Given the description of an element on the screen output the (x, y) to click on. 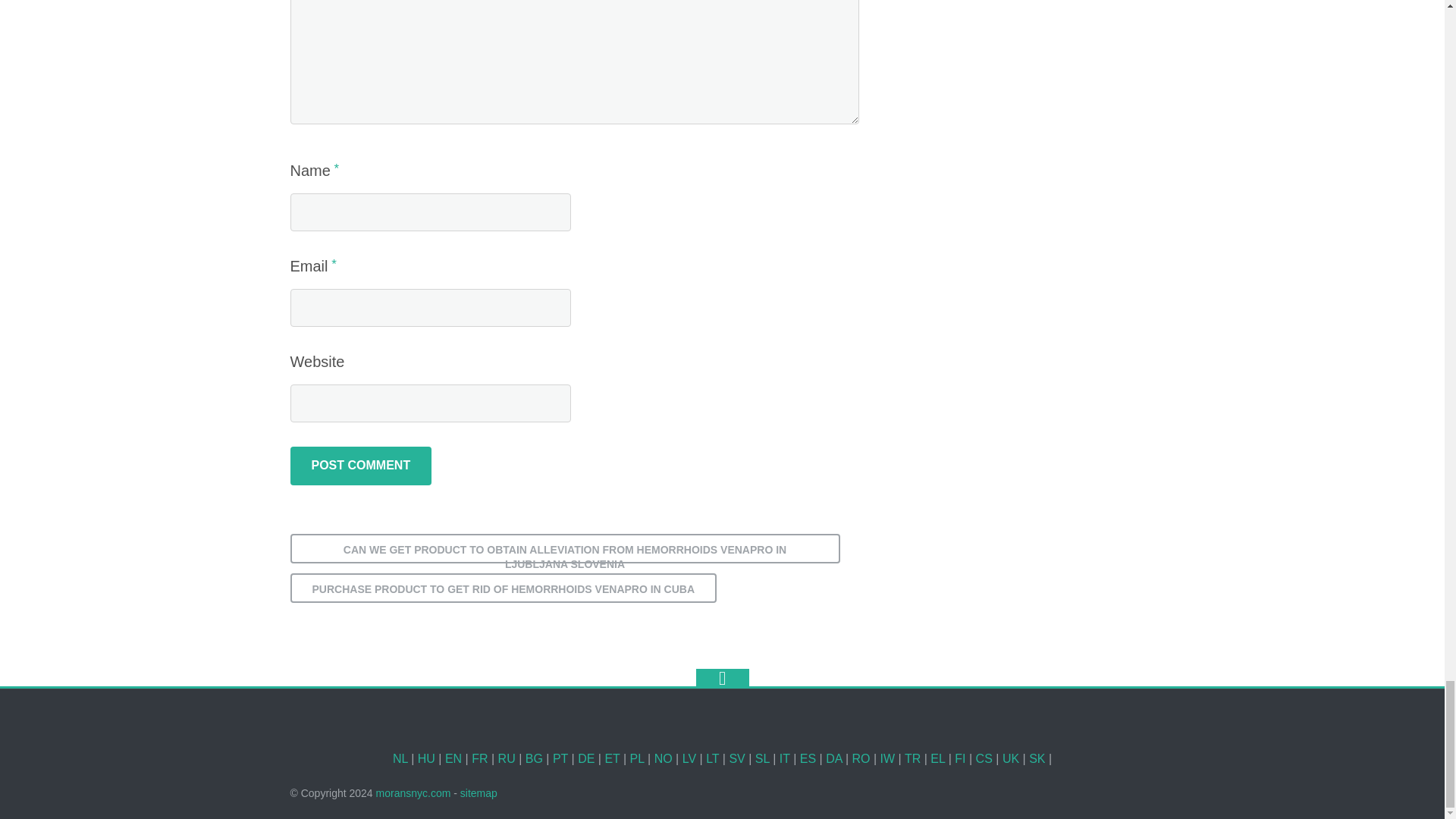
Post Comment (359, 465)
HU (426, 758)
NL (400, 758)
Post Comment (359, 465)
